Given the description of an element on the screen output the (x, y) to click on. 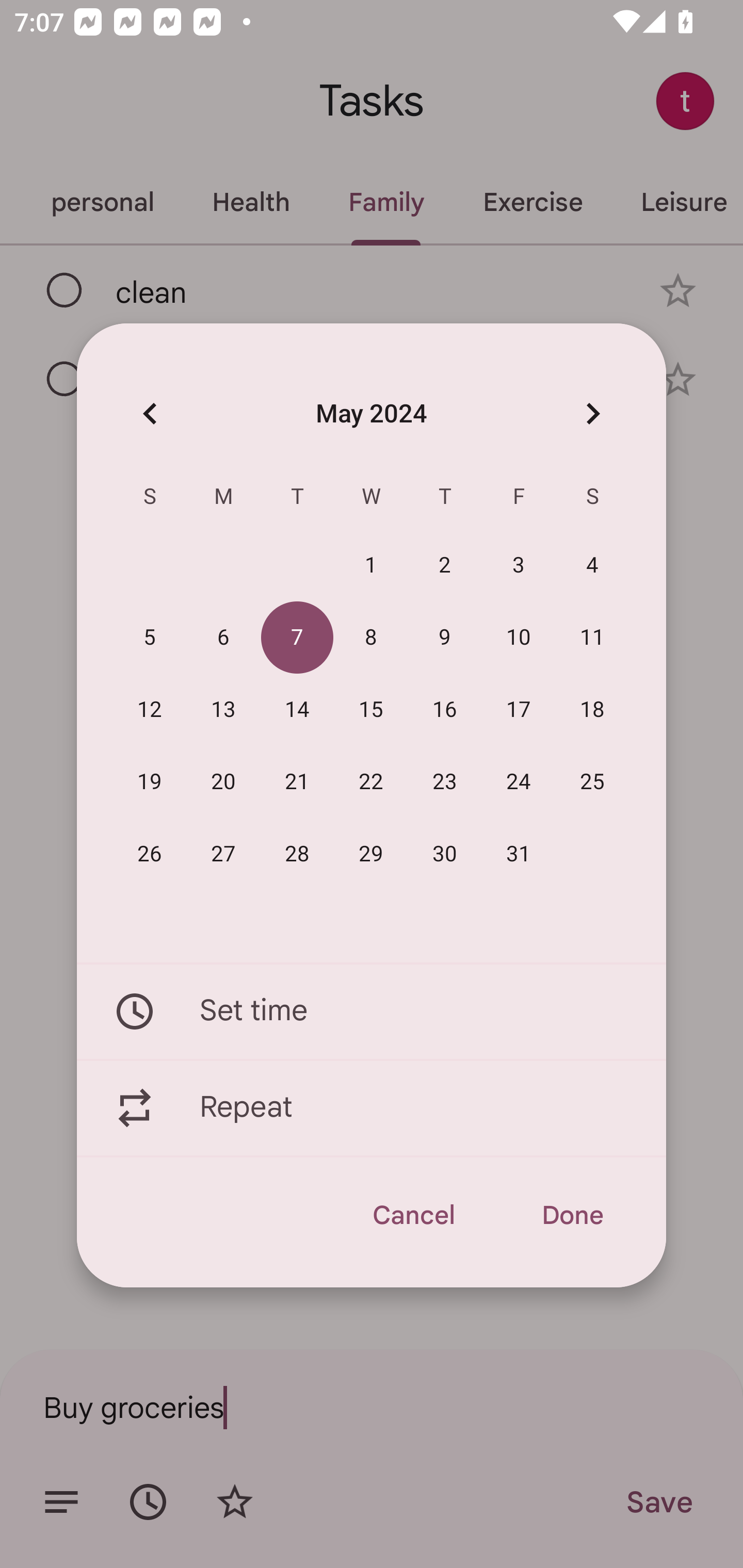
Previous month (149, 413)
Next month (592, 413)
1 01 May 2024 (370, 565)
2 02 May 2024 (444, 565)
3 03 May 2024 (518, 565)
4 04 May 2024 (592, 565)
5 05 May 2024 (149, 638)
6 06 May 2024 (223, 638)
7 07 May 2024 (297, 638)
8 08 May 2024 (370, 638)
9 09 May 2024 (444, 638)
10 10 May 2024 (518, 638)
11 11 May 2024 (592, 638)
12 12 May 2024 (149, 710)
13 13 May 2024 (223, 710)
14 14 May 2024 (297, 710)
15 15 May 2024 (370, 710)
16 16 May 2024 (444, 710)
17 17 May 2024 (518, 710)
18 18 May 2024 (592, 710)
19 19 May 2024 (149, 782)
20 20 May 2024 (223, 782)
21 21 May 2024 (297, 782)
22 22 May 2024 (370, 782)
23 23 May 2024 (444, 782)
24 24 May 2024 (518, 782)
25 25 May 2024 (592, 782)
26 26 May 2024 (149, 854)
27 27 May 2024 (223, 854)
28 28 May 2024 (297, 854)
29 29 May 2024 (370, 854)
30 30 May 2024 (444, 854)
31 31 May 2024 (518, 854)
Set time (371, 1011)
Repeat (371, 1108)
Cancel (412, 1215)
Done (571, 1215)
